Given the description of an element on the screen output the (x, y) to click on. 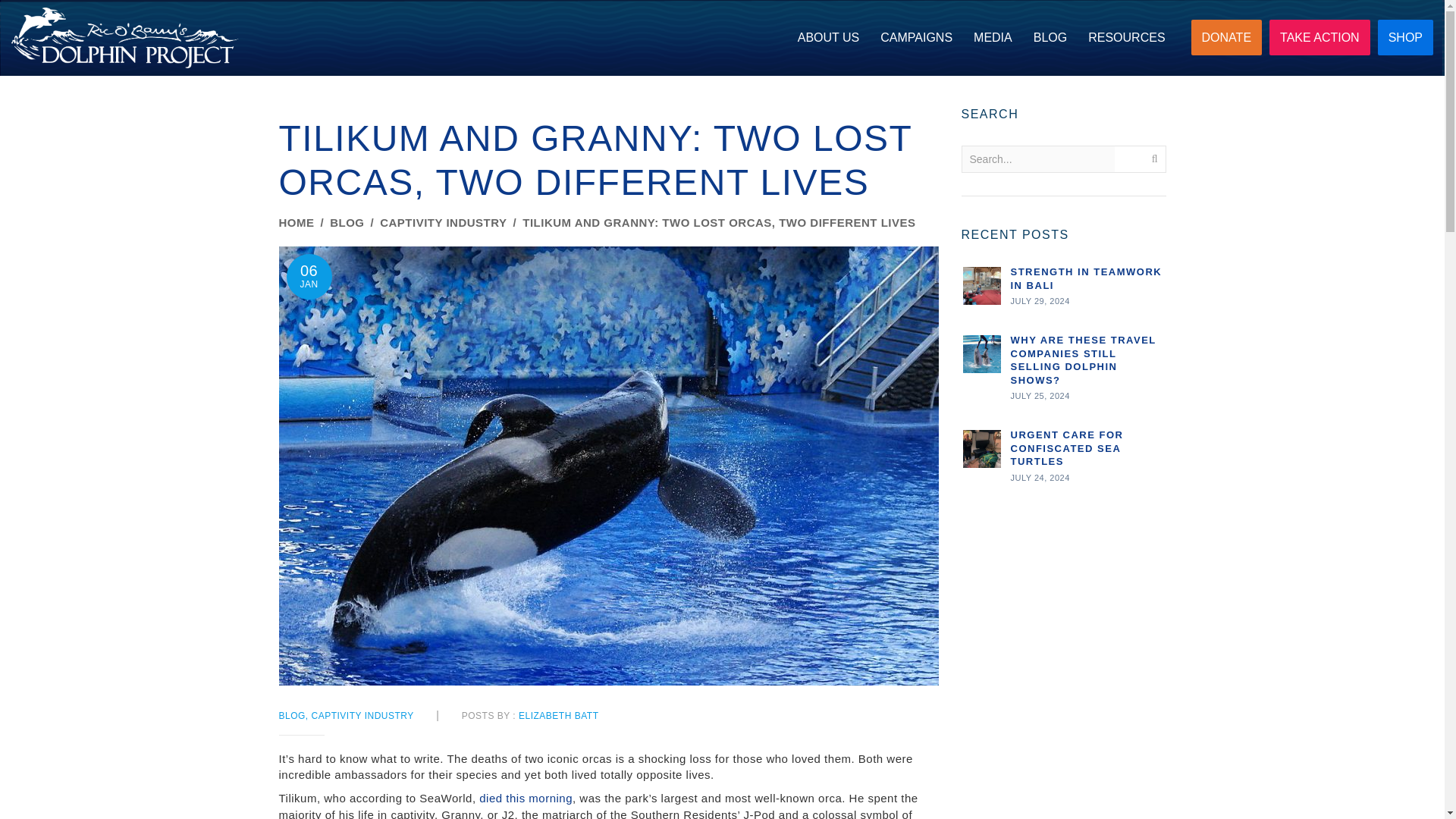
DONATE (1226, 37)
TAKE ACTION (1319, 37)
Search... (1036, 158)
ABOUT US (828, 38)
CAMPAIGNS (915, 38)
RESOURCES (1125, 38)
SHOP (1404, 37)
Dolphin Project (124, 37)
